Given the description of an element on the screen output the (x, y) to click on. 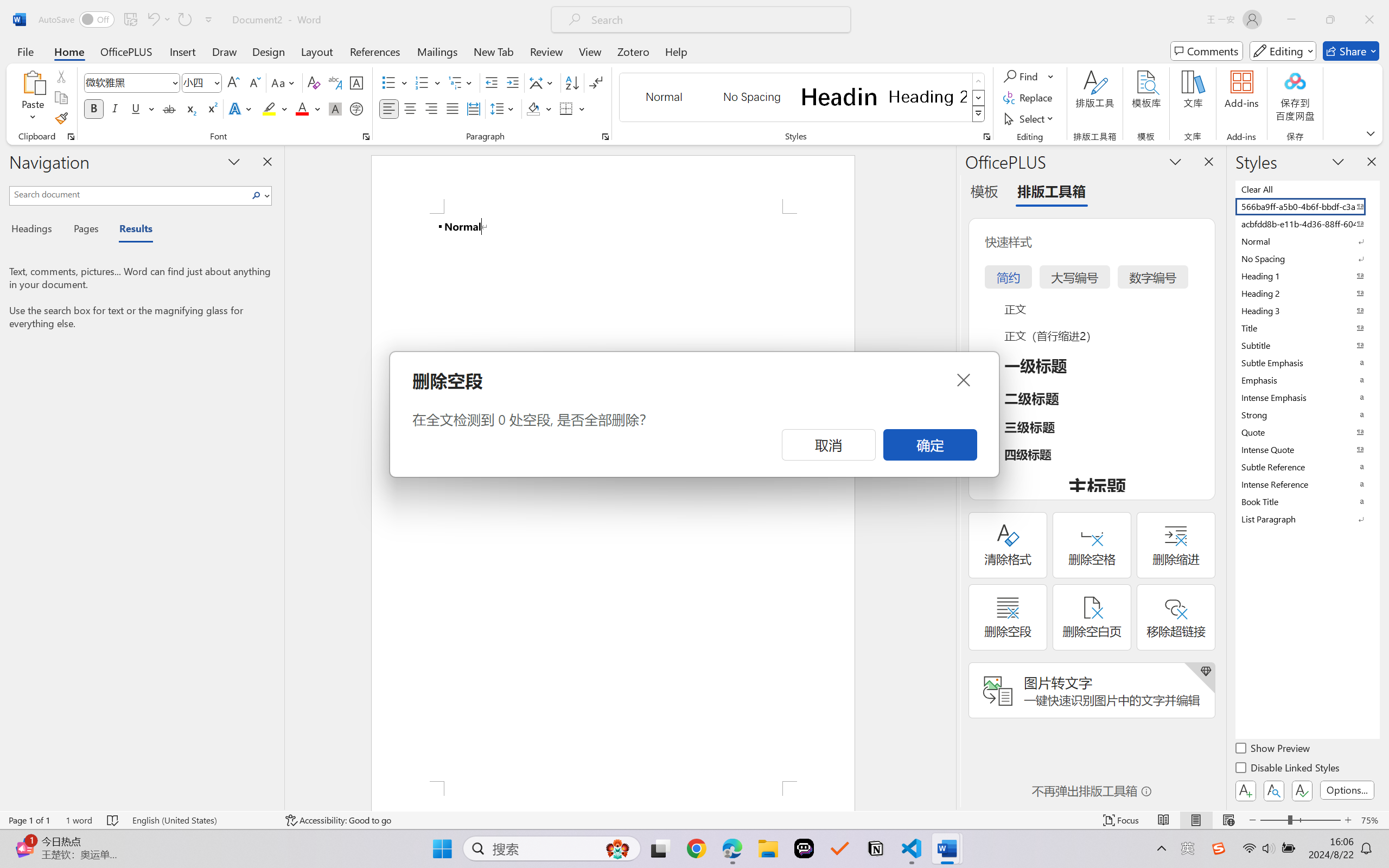
Borders (566, 108)
Clear Formatting (313, 82)
Font Size (201, 82)
Restore Down (1330, 19)
Undo <ApplyStyleToDoc>b__0 (152, 19)
Shrink Font (253, 82)
Clear All (1306, 188)
Notion (875, 848)
Underline (142, 108)
New Tab (493, 51)
Word Count 1 word (78, 819)
Line and Paragraph Spacing (503, 108)
Web Layout (1228, 819)
